Given the description of an element on the screen output the (x, y) to click on. 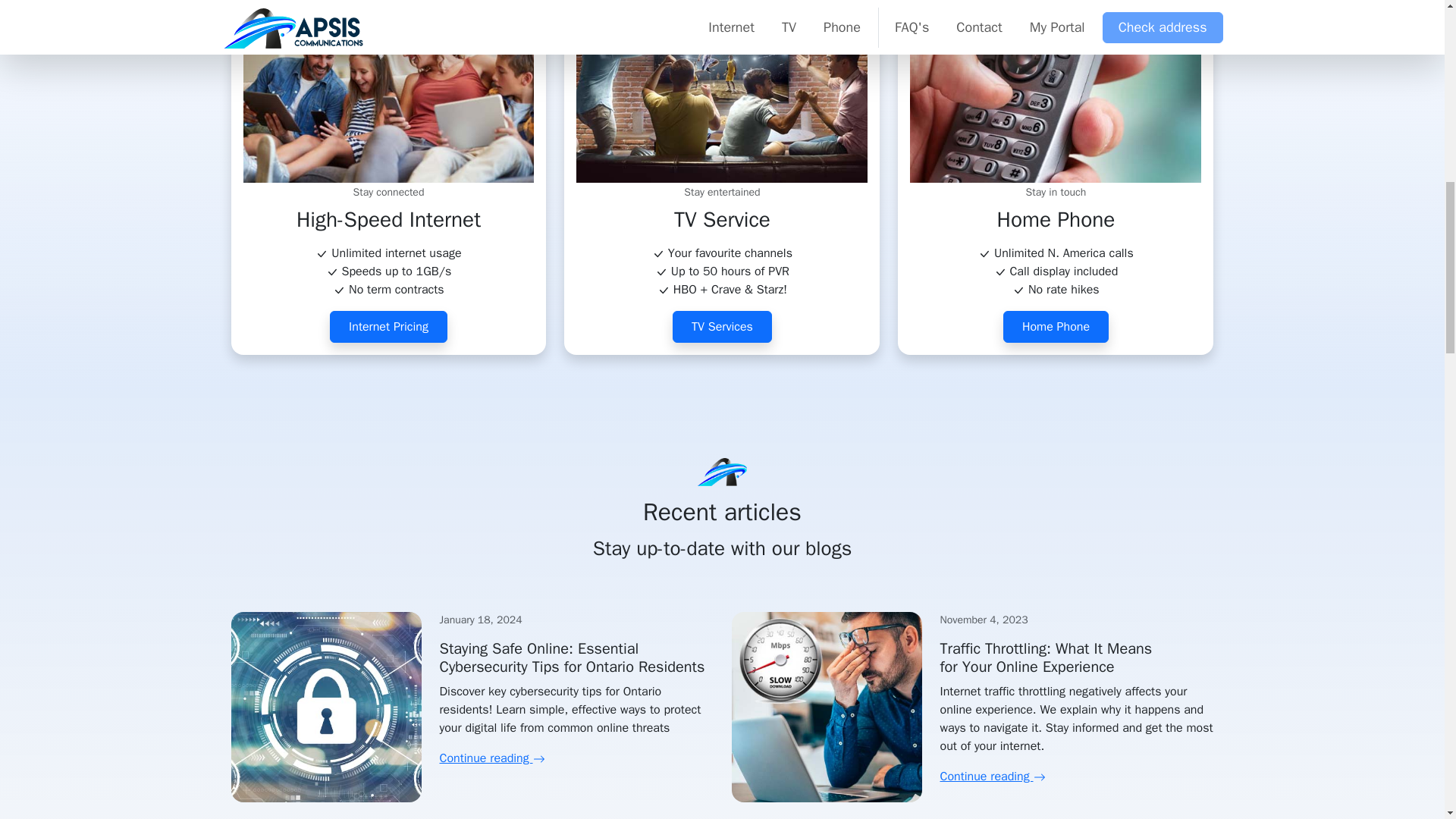
TV Services (721, 327)
Internet Pricing (388, 327)
Home Phone (1055, 327)
Traffic Throttling: What It Means for Your Online Experience (1046, 657)
Continue reading (992, 776)
Continue reading (491, 758)
